Given the description of an element on the screen output the (x, y) to click on. 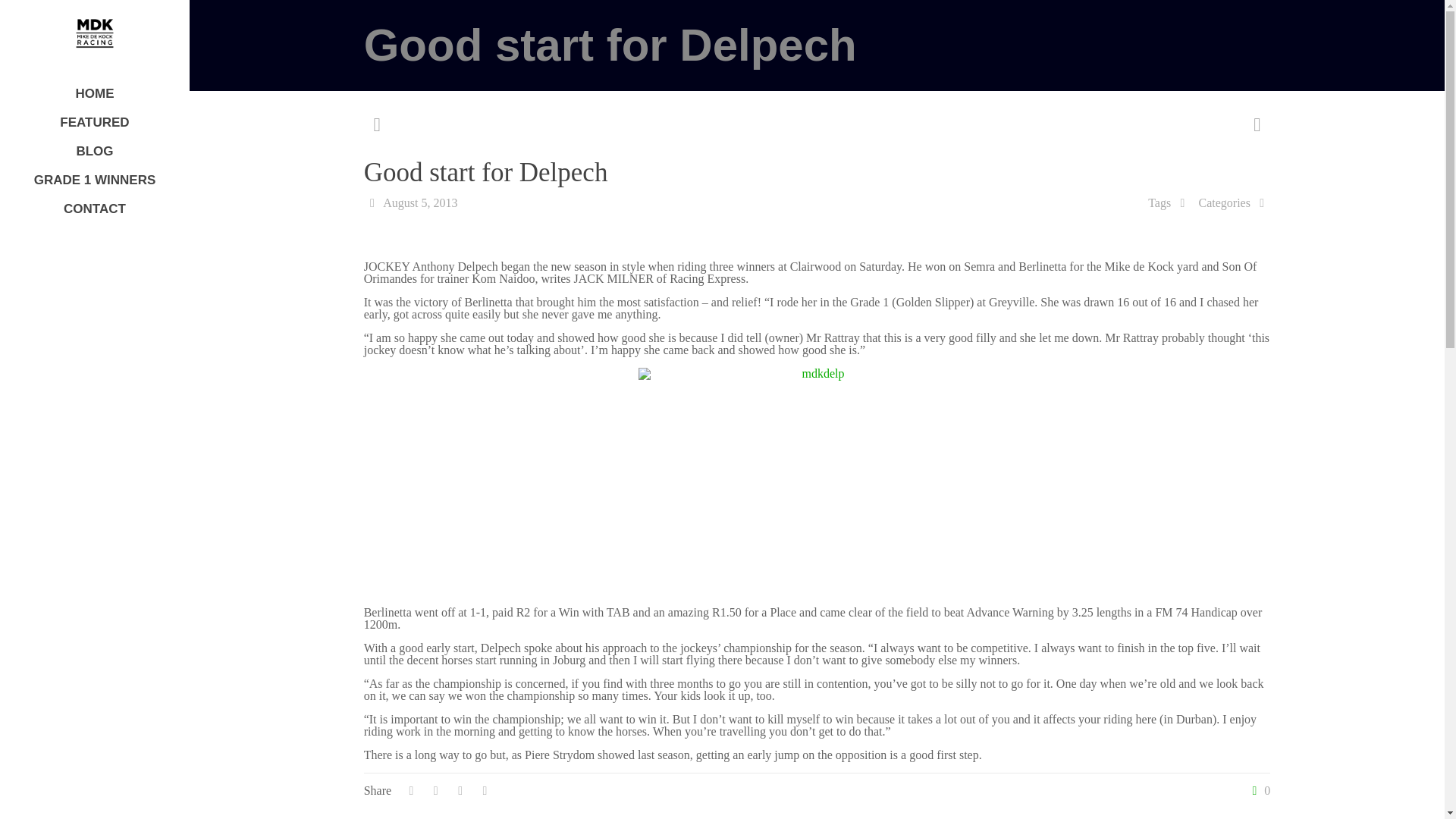
0 (1257, 790)
Twitter (93, 798)
HOME (94, 93)
GRADE 1 WINNERS (94, 180)
BLOG (94, 151)
Mike de Kock Racing (94, 33)
CONTACT (94, 208)
FEATURED (94, 122)
